Given the description of an element on the screen output the (x, y) to click on. 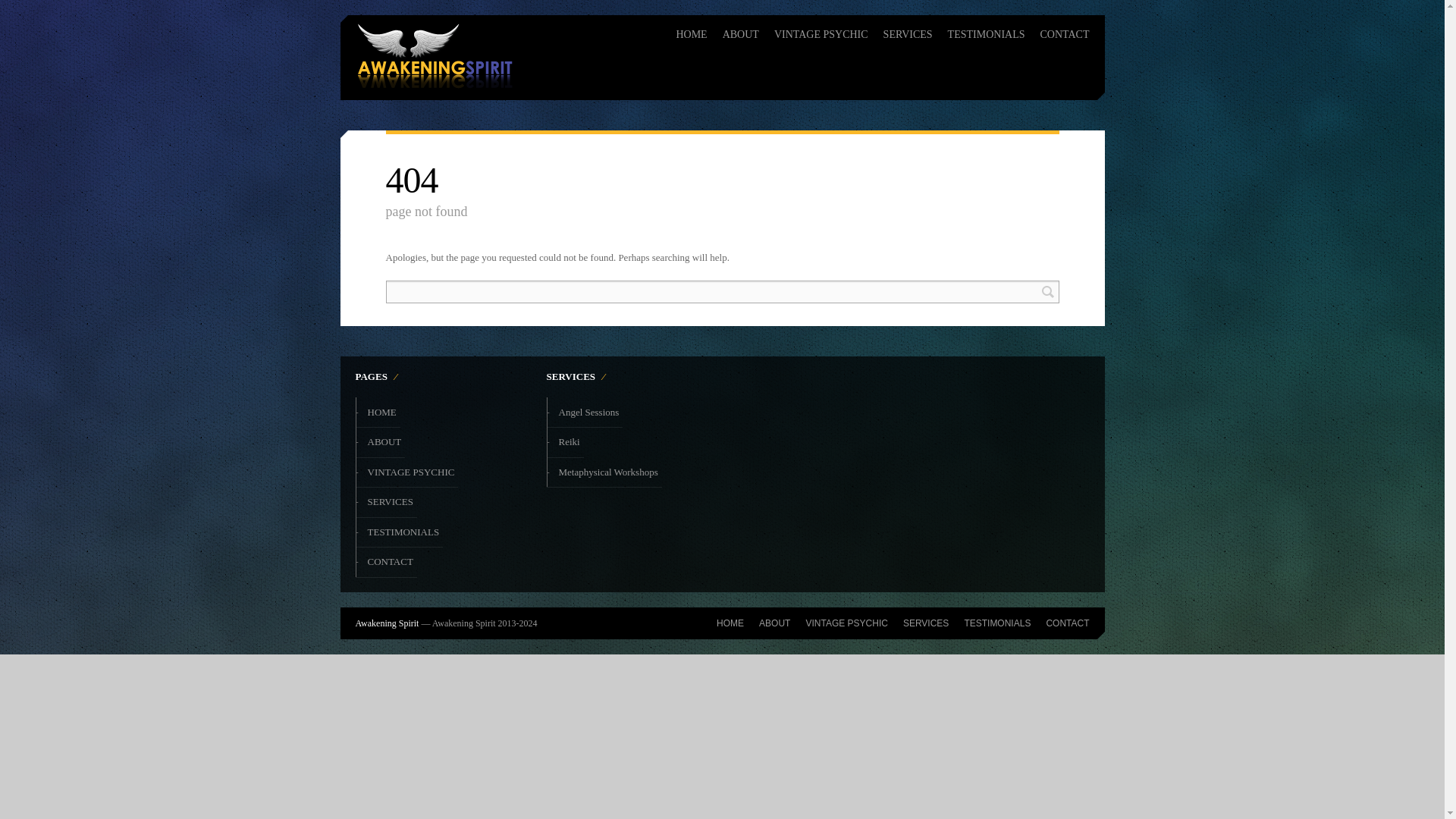
ABOUT (740, 30)
Awakening Spirit (387, 623)
Search (1046, 291)
Metaphysical Workshops (608, 472)
Angel Sessions (588, 412)
Reiki (568, 441)
HOME (382, 412)
HOME (690, 30)
ABOUT (774, 623)
VINTAGE PSYCHIC (820, 30)
Awakening Spirit (387, 623)
VINTAGE PSYCHIC (845, 623)
HOME (730, 623)
VINTAGE PSYCHIC (411, 472)
TESTIMONIALS (404, 531)
